Given the description of an element on the screen output the (x, y) to click on. 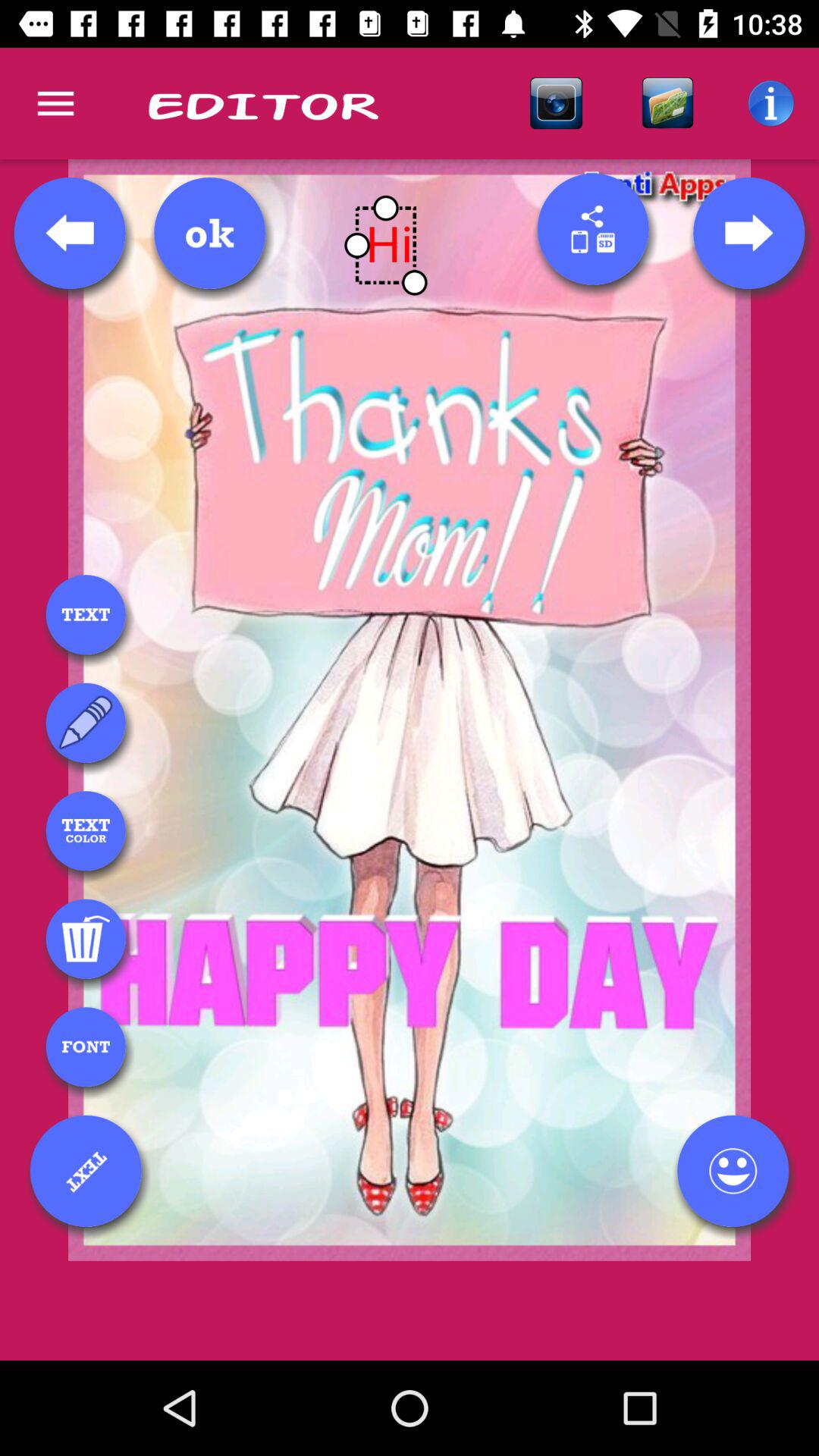
this button will allow you to share using different applications (593, 229)
